Given the description of an element on the screen output the (x, y) to click on. 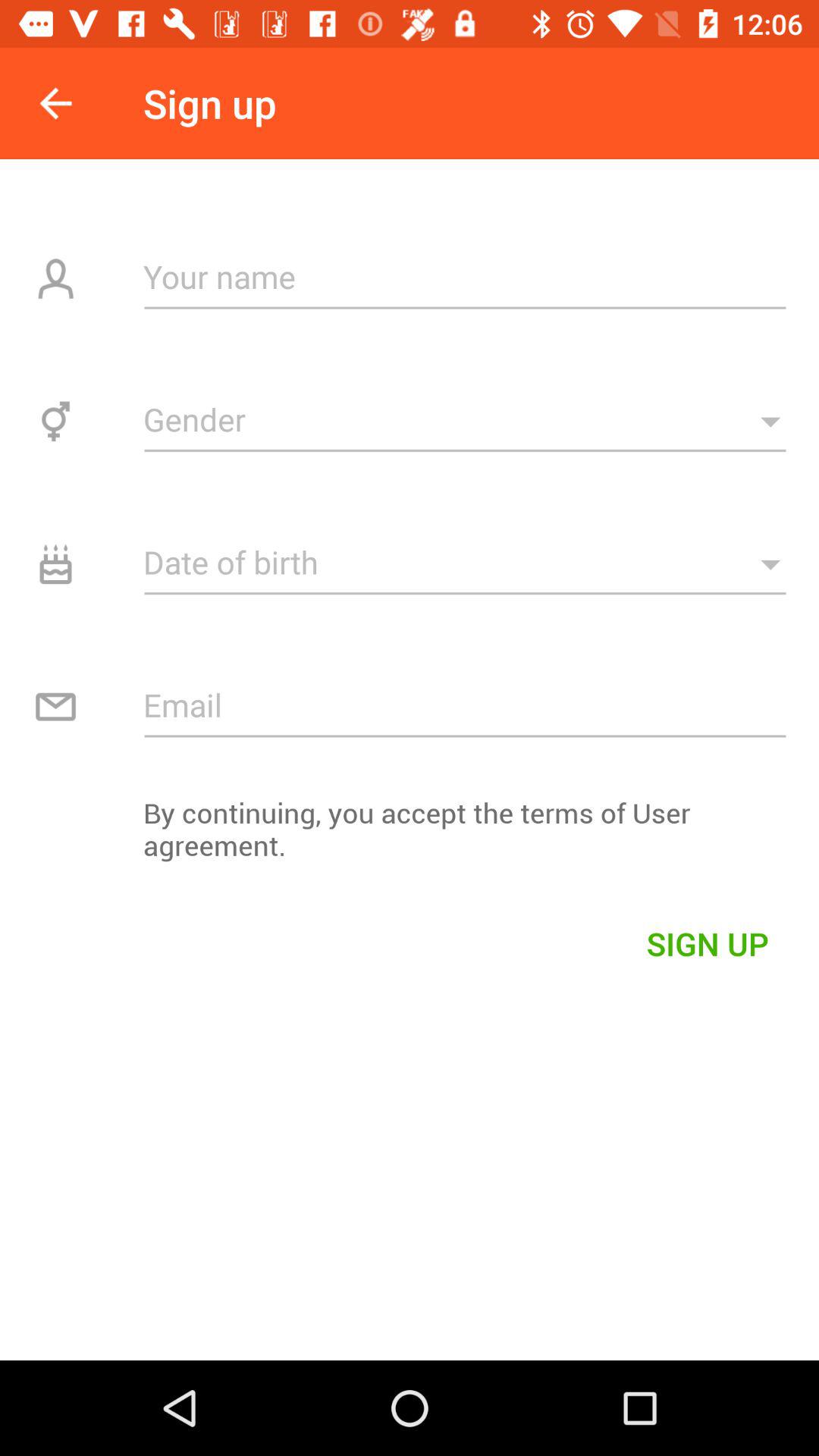
turn on item next to the sign up (55, 103)
